Given the description of an element on the screen output the (x, y) to click on. 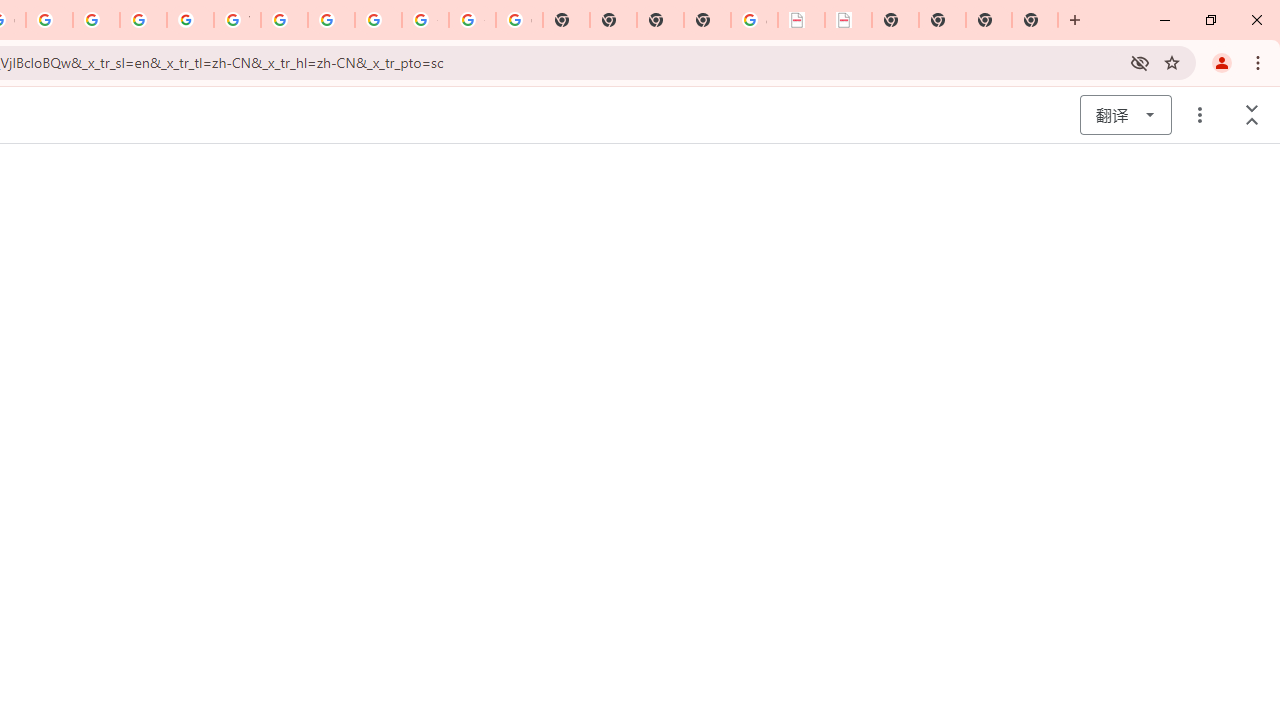
Privacy Help Center - Policies Help (48, 20)
Privacy Help Center - Policies Help (96, 20)
New Tab (706, 20)
BAE Systems Brasil | BAE Systems (848, 20)
